Given the description of an element on the screen output the (x, y) to click on. 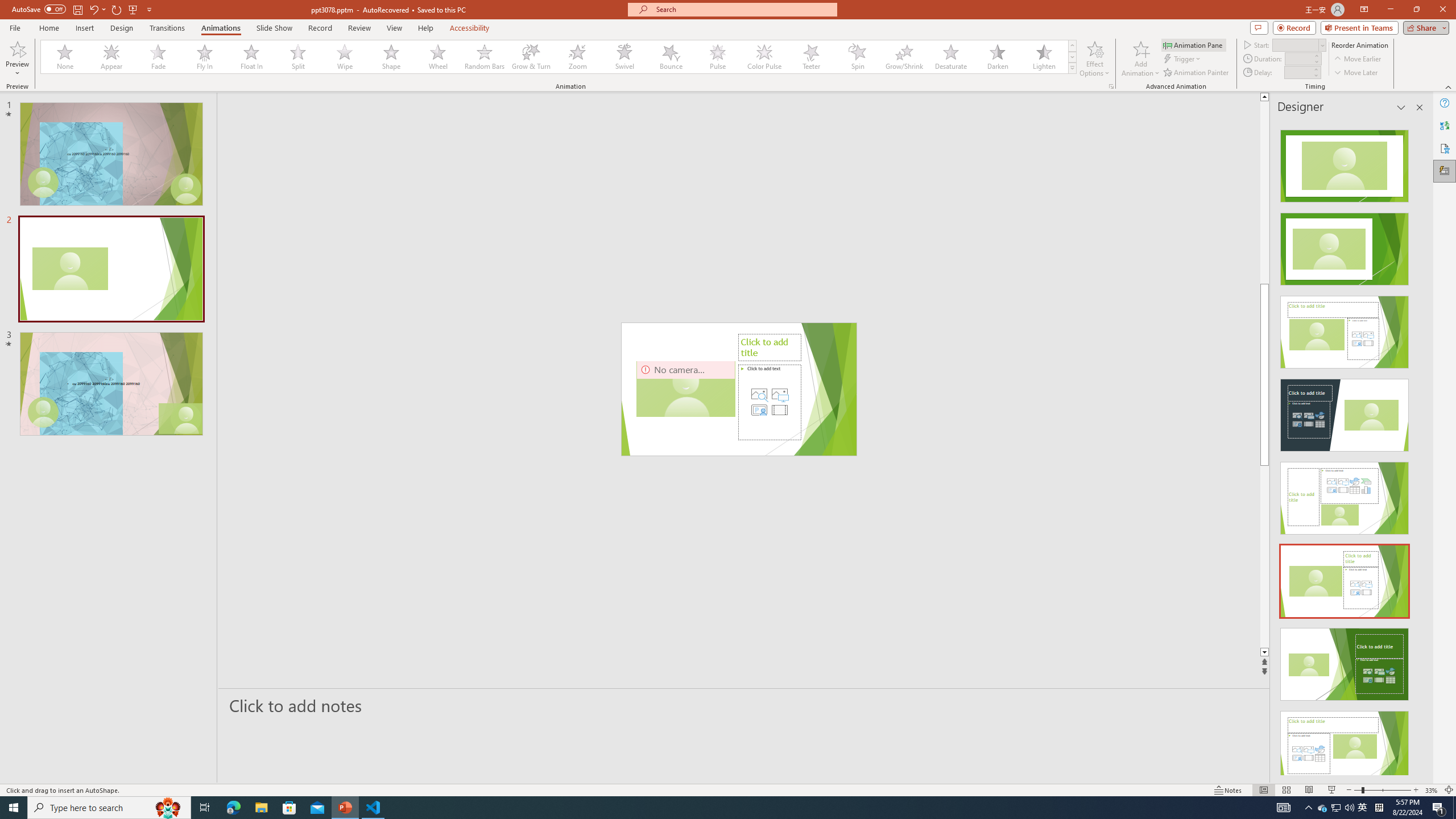
Translator (1444, 125)
Random Bars (484, 56)
Spin (857, 56)
Move Later (1355, 72)
Camera 3, No camera detected. (685, 388)
Swivel (624, 56)
None (65, 56)
